Given the description of an element on the screen output the (x, y) to click on. 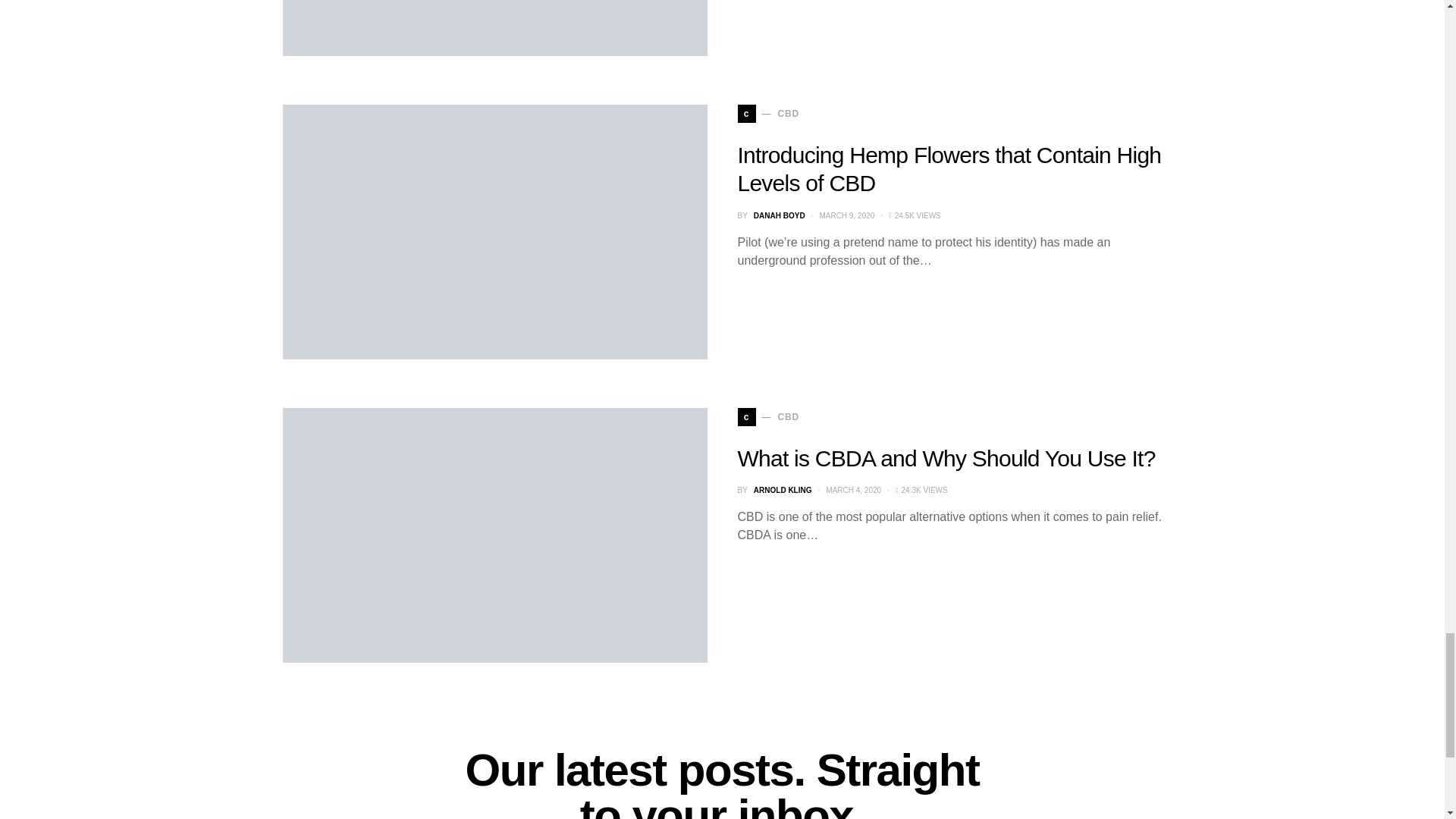
View all posts by Arnold Kling (783, 490)
View all posts by Danah Boyd (779, 215)
